Given the description of an element on the screen output the (x, y) to click on. 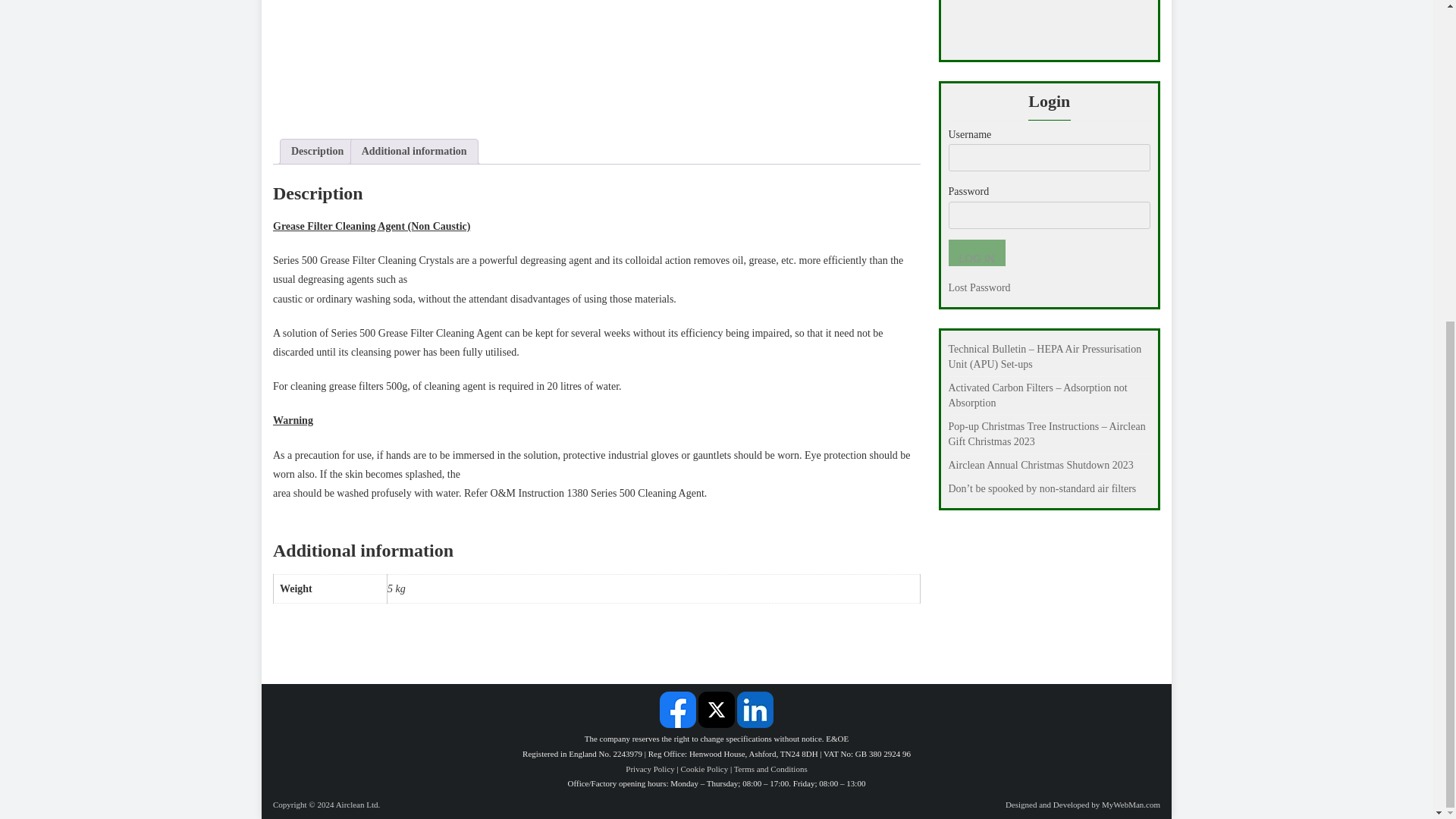
Log In (975, 252)
